Given the description of an element on the screen output the (x, y) to click on. 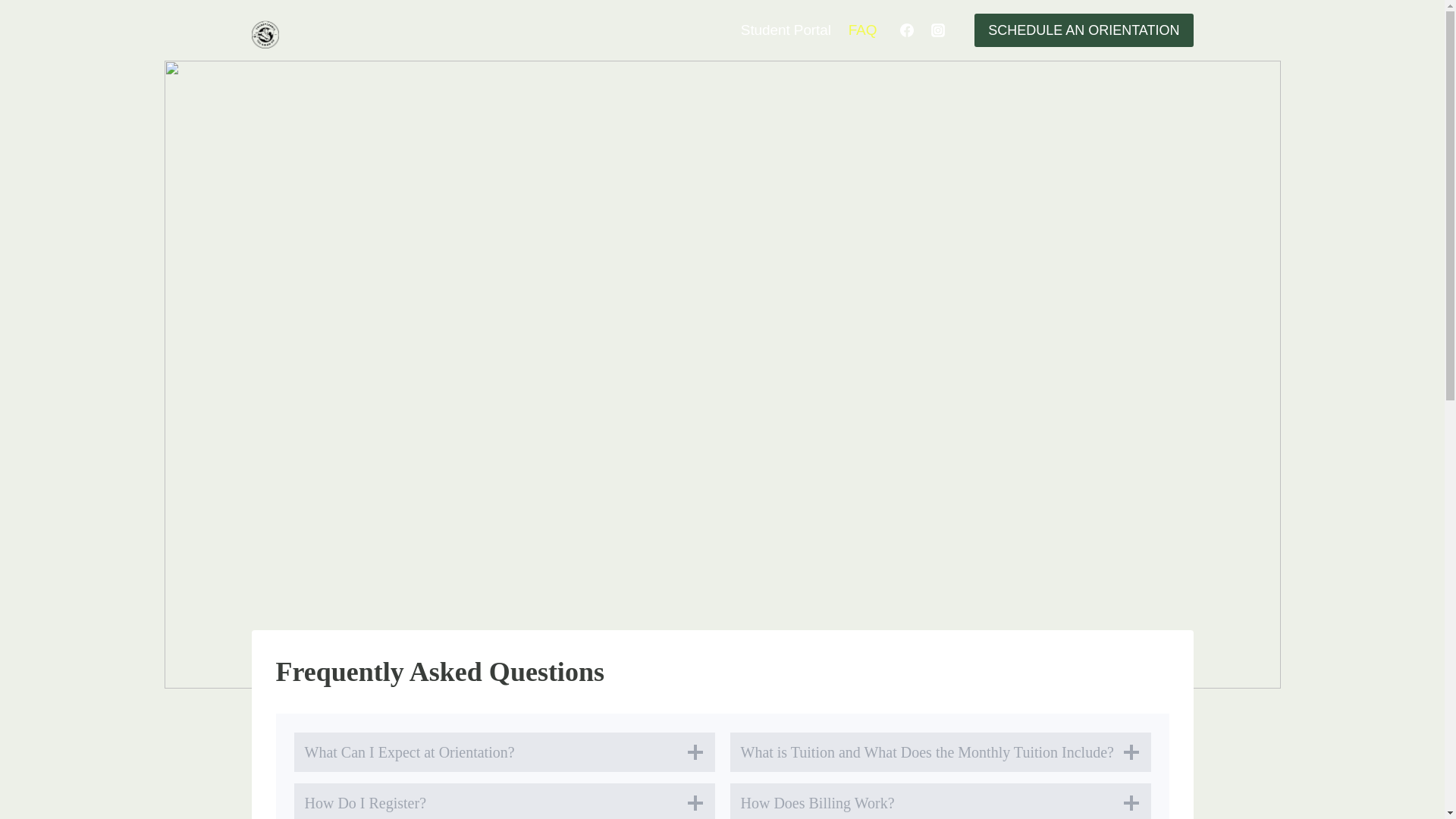
How Do I Register? (504, 800)
What Can I Expect at Orientation? (504, 752)
SCHEDULE AN ORIENTATION (1083, 29)
FAQ (862, 29)
How Does Billing Work? (939, 800)
Student Portal (786, 29)
What is Tuition and What Does the Monthly Tuition Include? (939, 752)
